Given the description of an element on the screen output the (x, y) to click on. 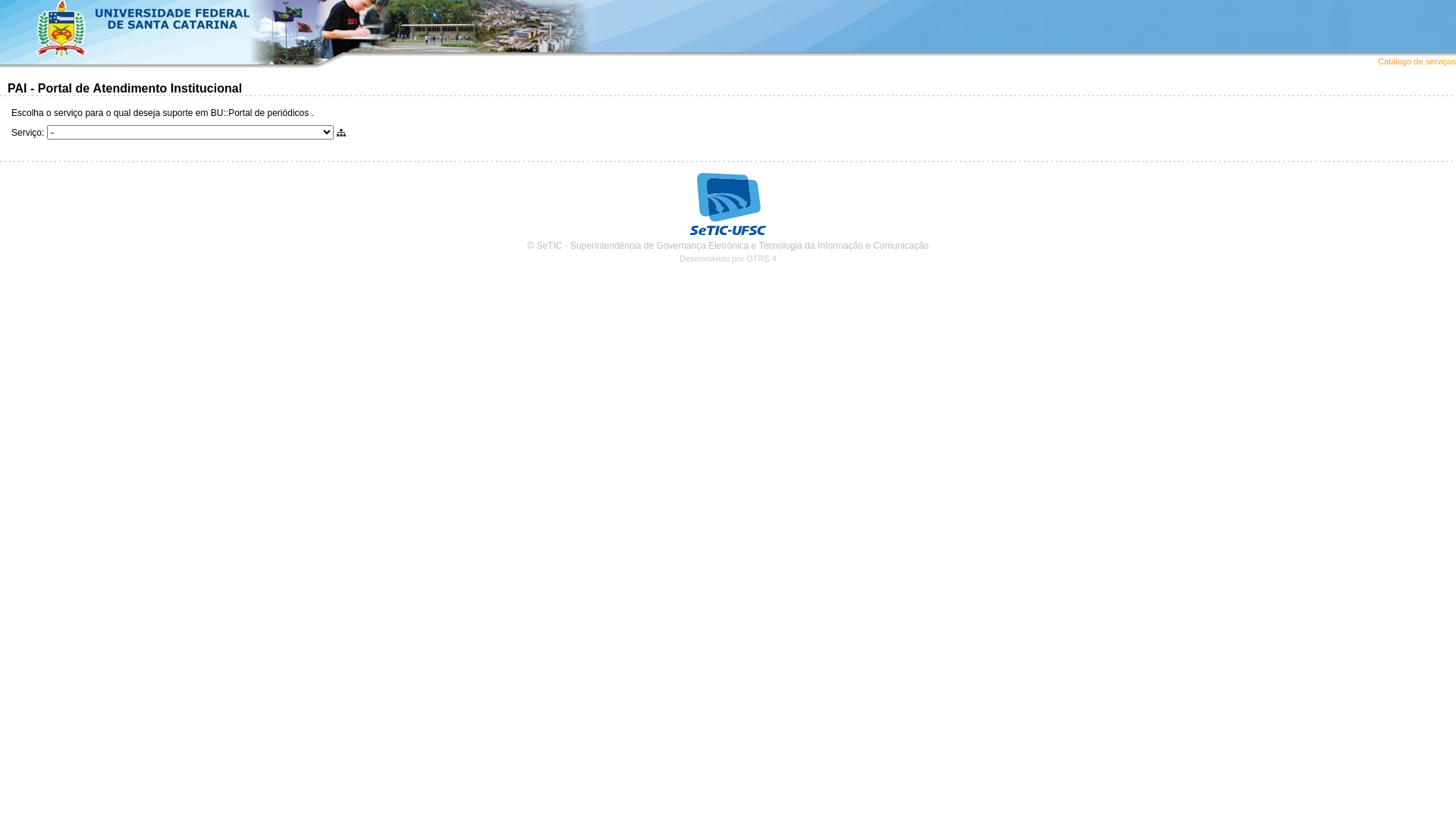
Desenvolvido por OTRS 4 Element type: text (727, 258)
